Given the description of an element on the screen output the (x, y) to click on. 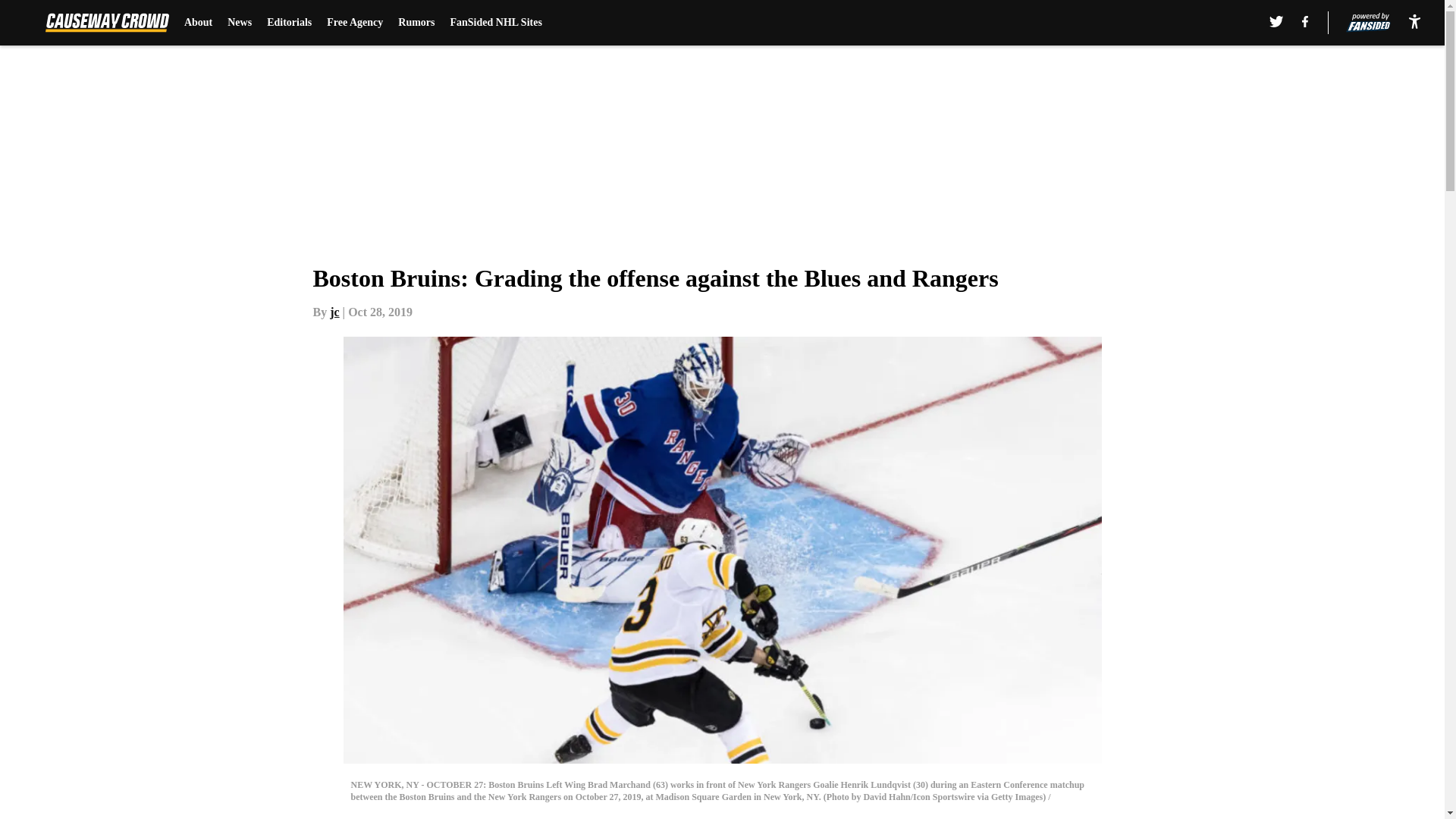
FanSided NHL Sites (495, 22)
News (239, 22)
About (198, 22)
jc (334, 311)
Editorials (288, 22)
Free Agency (354, 22)
Rumors (415, 22)
